Given the description of an element on the screen output the (x, y) to click on. 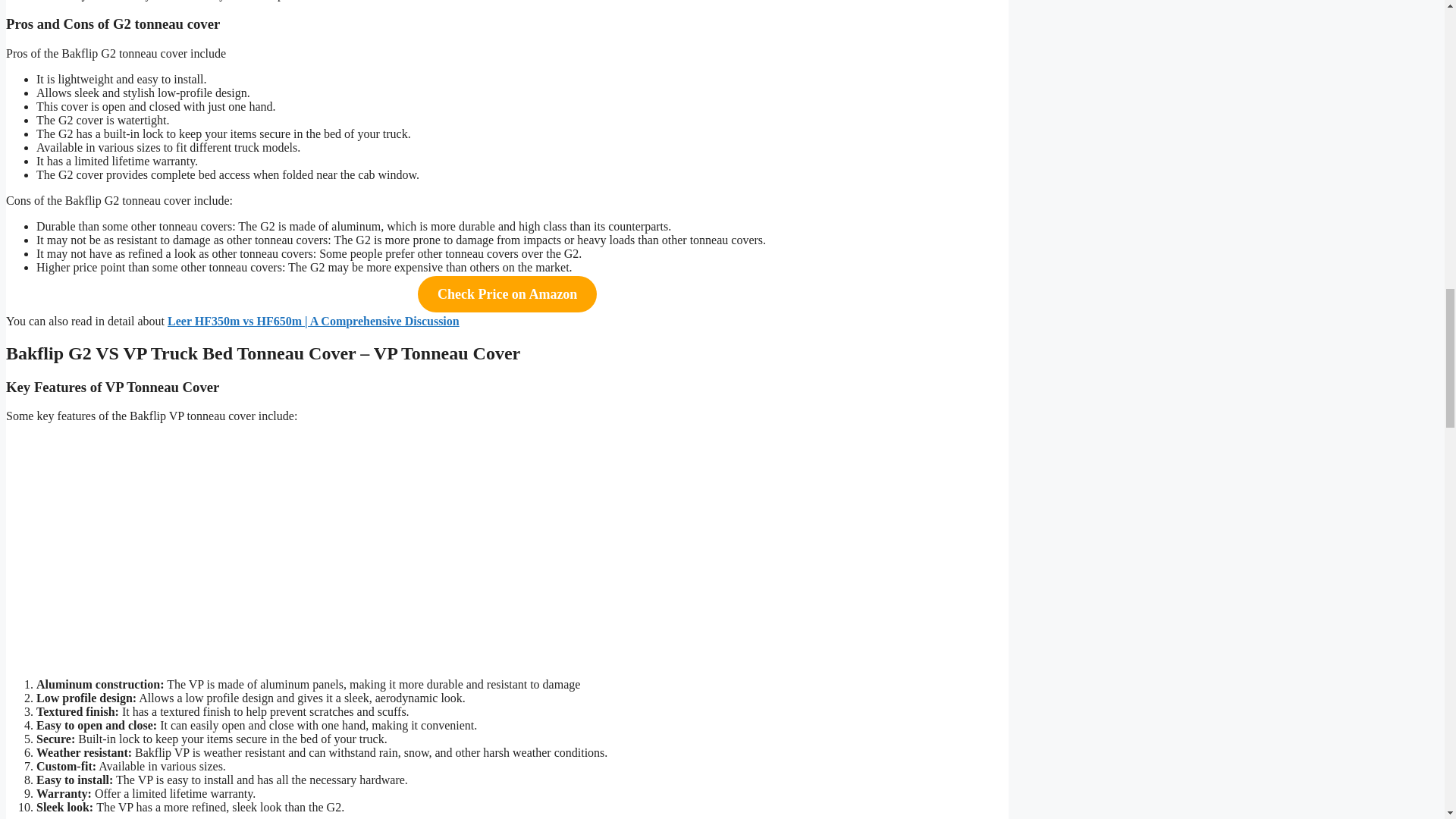
Check Price on Amazon (506, 294)
